Given the description of an element on the screen output the (x, y) to click on. 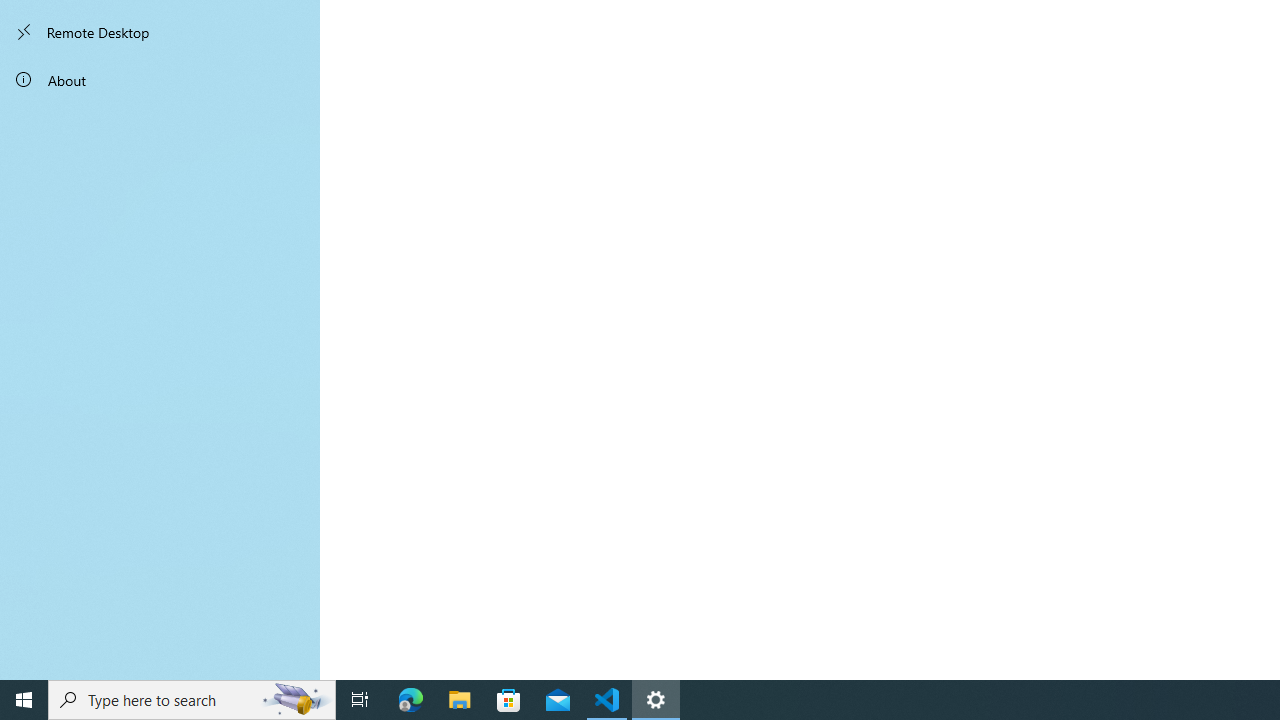
About (160, 79)
Search highlights icon opens search home window (295, 699)
Microsoft Edge (411, 699)
Remote Desktop (160, 31)
Type here to search (191, 699)
Microsoft Store (509, 699)
File Explorer (460, 699)
Task View (359, 699)
Settings - 1 running window (656, 699)
Visual Studio Code - 1 running window (607, 699)
Start (24, 699)
